Given the description of an element on the screen output the (x, y) to click on. 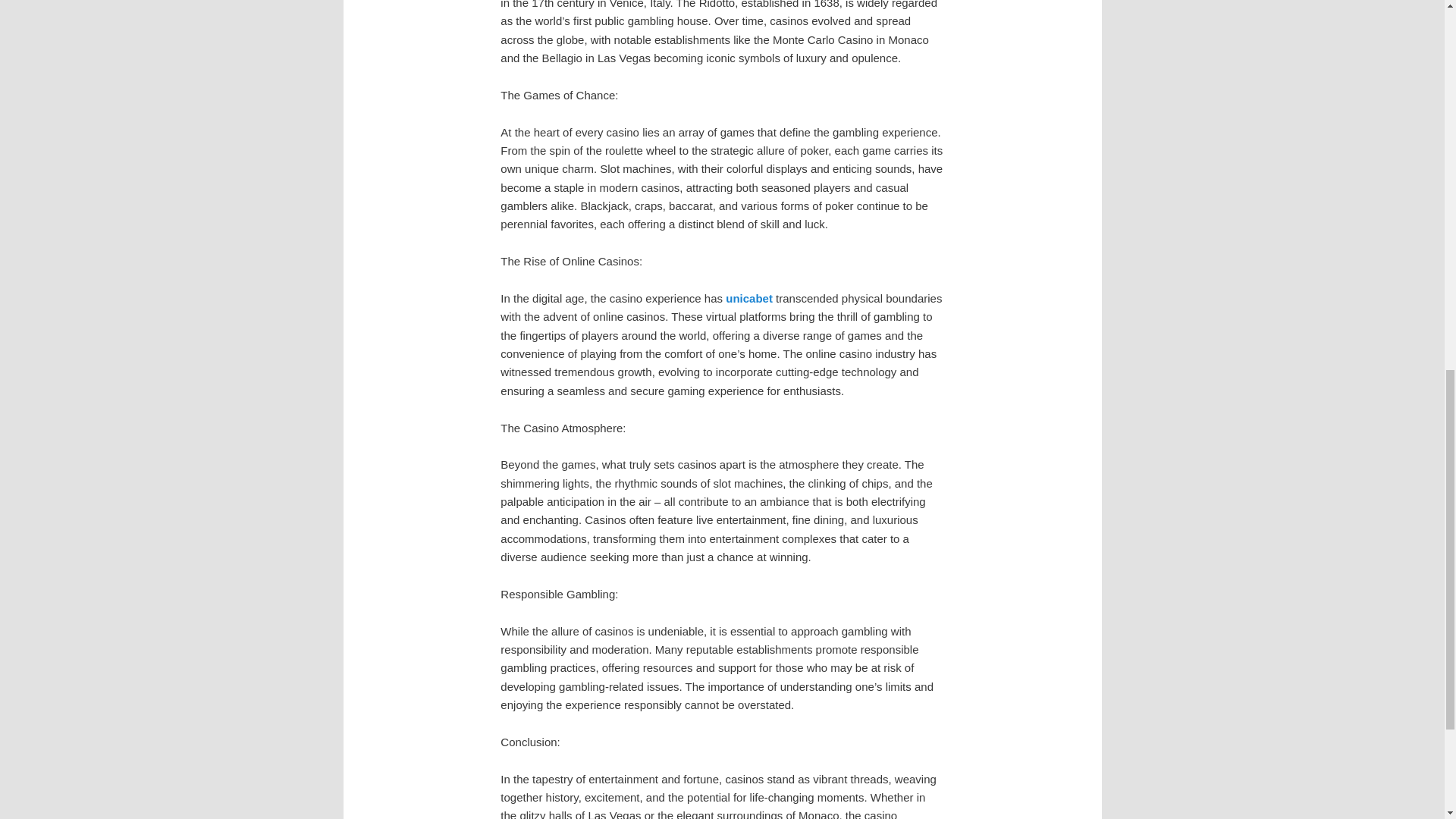
unicabet (749, 297)
